Given the description of an element on the screen output the (x, y) to click on. 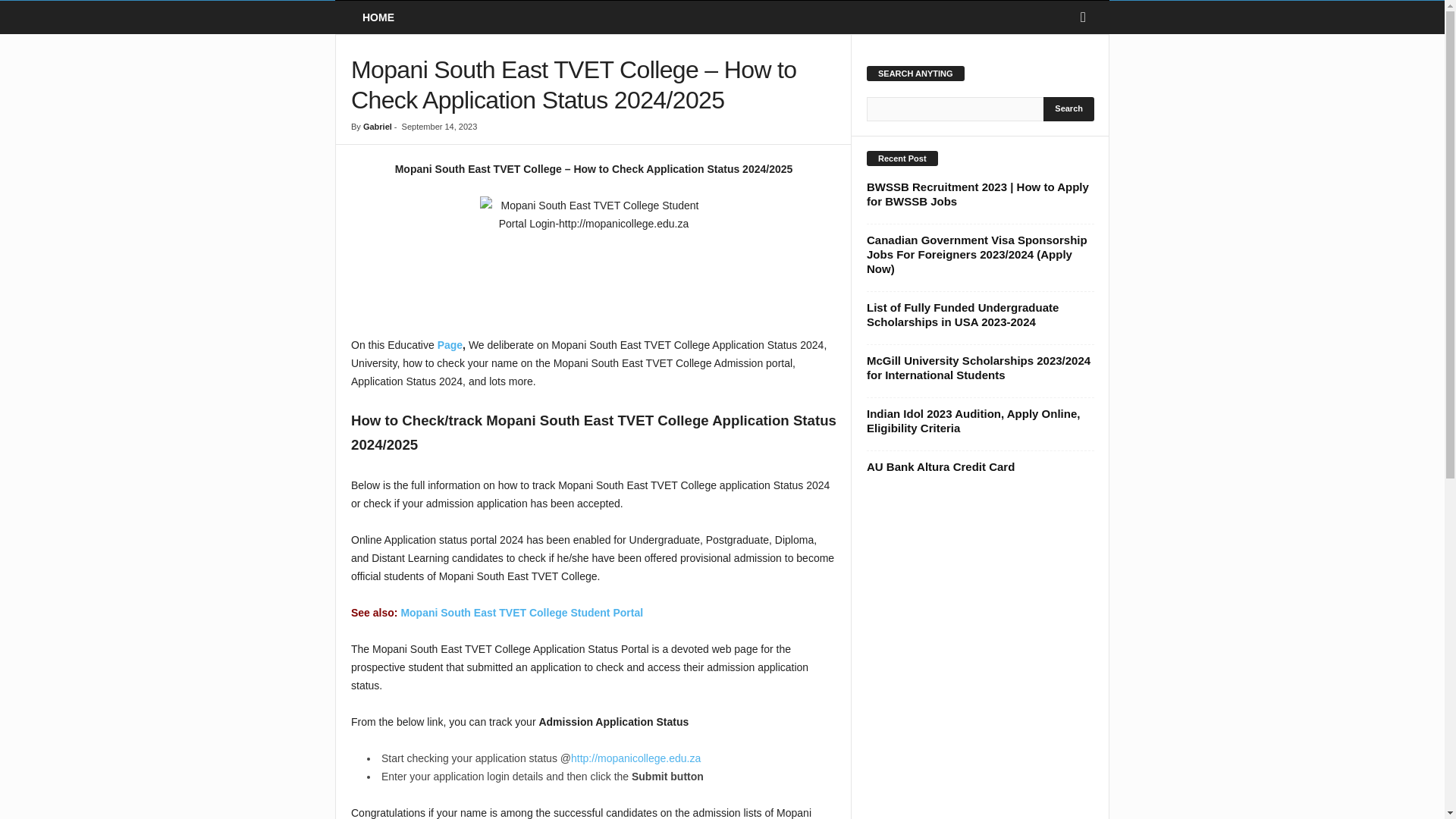
AU Bank Altura Credit Card (940, 466)
AU Bank Altura Credit Card (940, 466)
HOME (378, 17)
Search (1068, 109)
Search (1068, 109)
Gabriel (376, 126)
Mopani South East TVET College Student Portal (521, 612)
Page (450, 345)
